Given the description of an element on the screen output the (x, y) to click on. 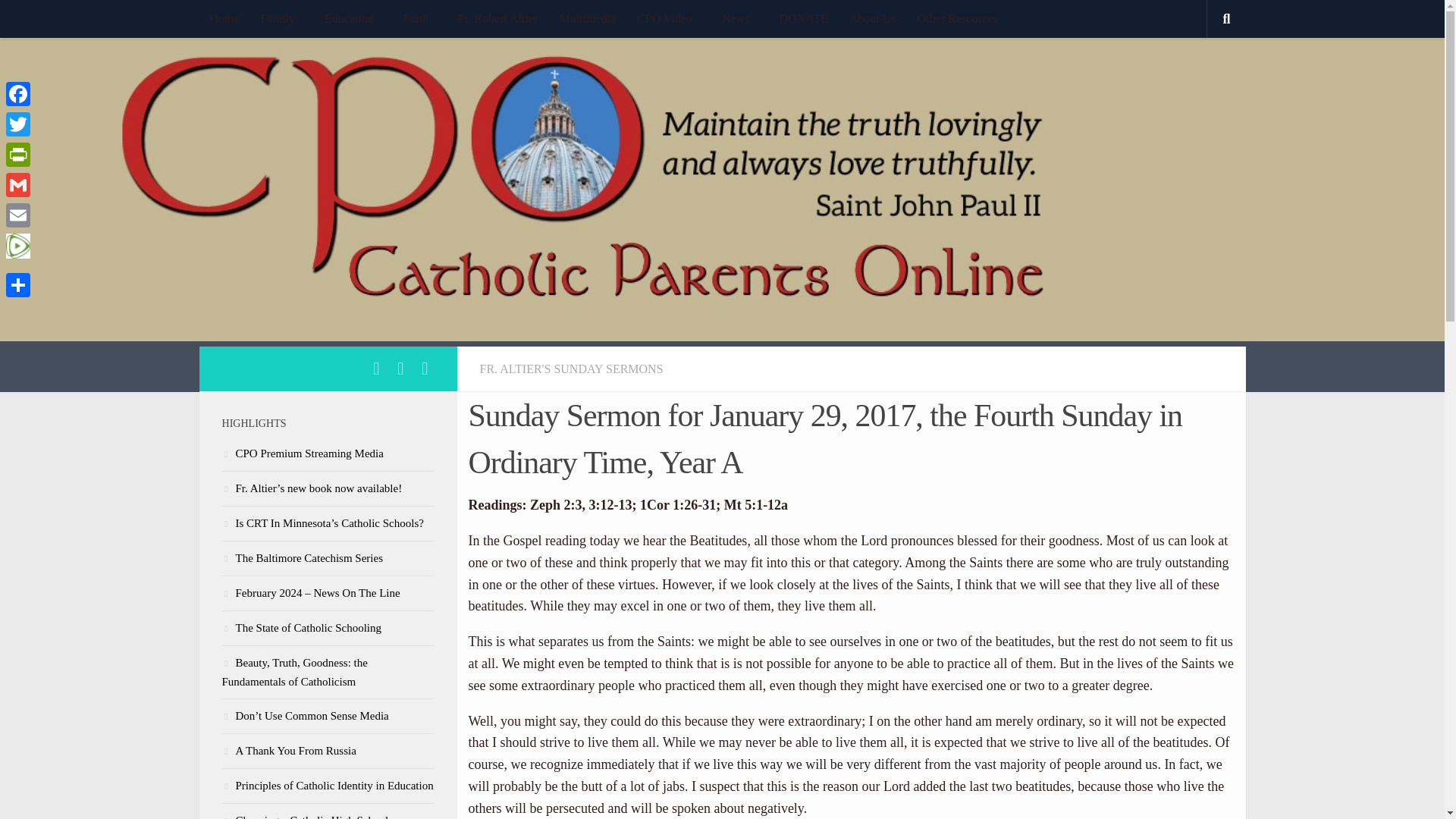
Faith (419, 18)
Home (223, 18)
DONATE (803, 18)
PrintFriendly (17, 154)
News (739, 18)
Other Resources (958, 18)
Multimedia (587, 18)
Facebook Page (400, 368)
RSS (423, 368)
Gmail (17, 184)
